Given the description of an element on the screen output the (x, y) to click on. 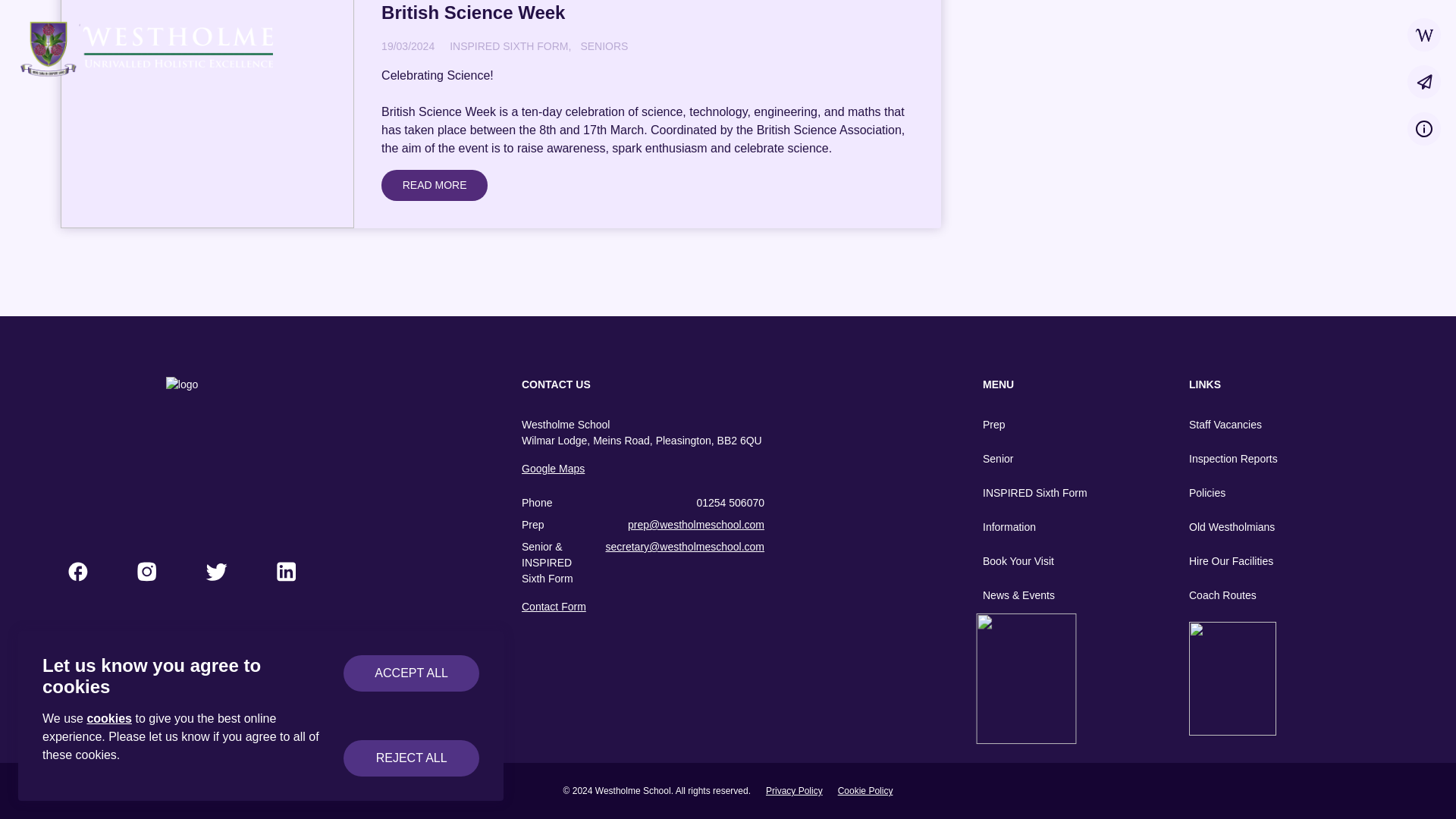
Senior (1042, 458)
Google Maps (642, 468)
Contact Form (642, 606)
Prep (1042, 424)
READ MORE (434, 184)
01254 506070 (729, 503)
INSPIRED Sixth Form (1042, 493)
